Given the description of an element on the screen output the (x, y) to click on. 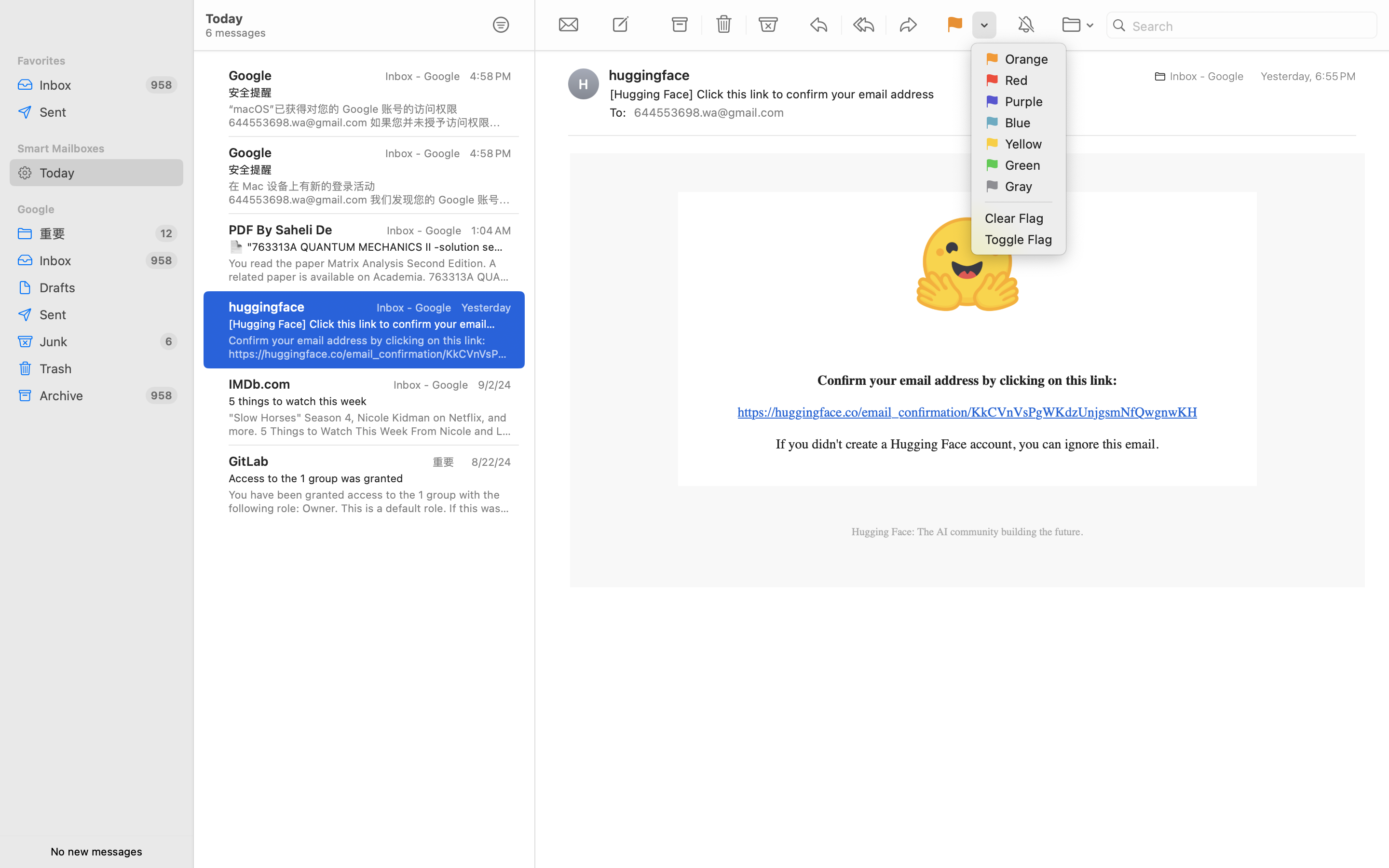
huggingface Element type: AXStaticText (653, 74)
If you didn't create a Hugging Face account, you can ignore this email. Element type: AXStaticText (967, 443)
H Element type: AXStaticText (583, 83)
PDF By Saheli De Element type: AXStaticText (280, 229)
[Hugging Face] Click this link to confirm your email address Element type: AXStaticText (365, 323)
